Given the description of an element on the screen output the (x, y) to click on. 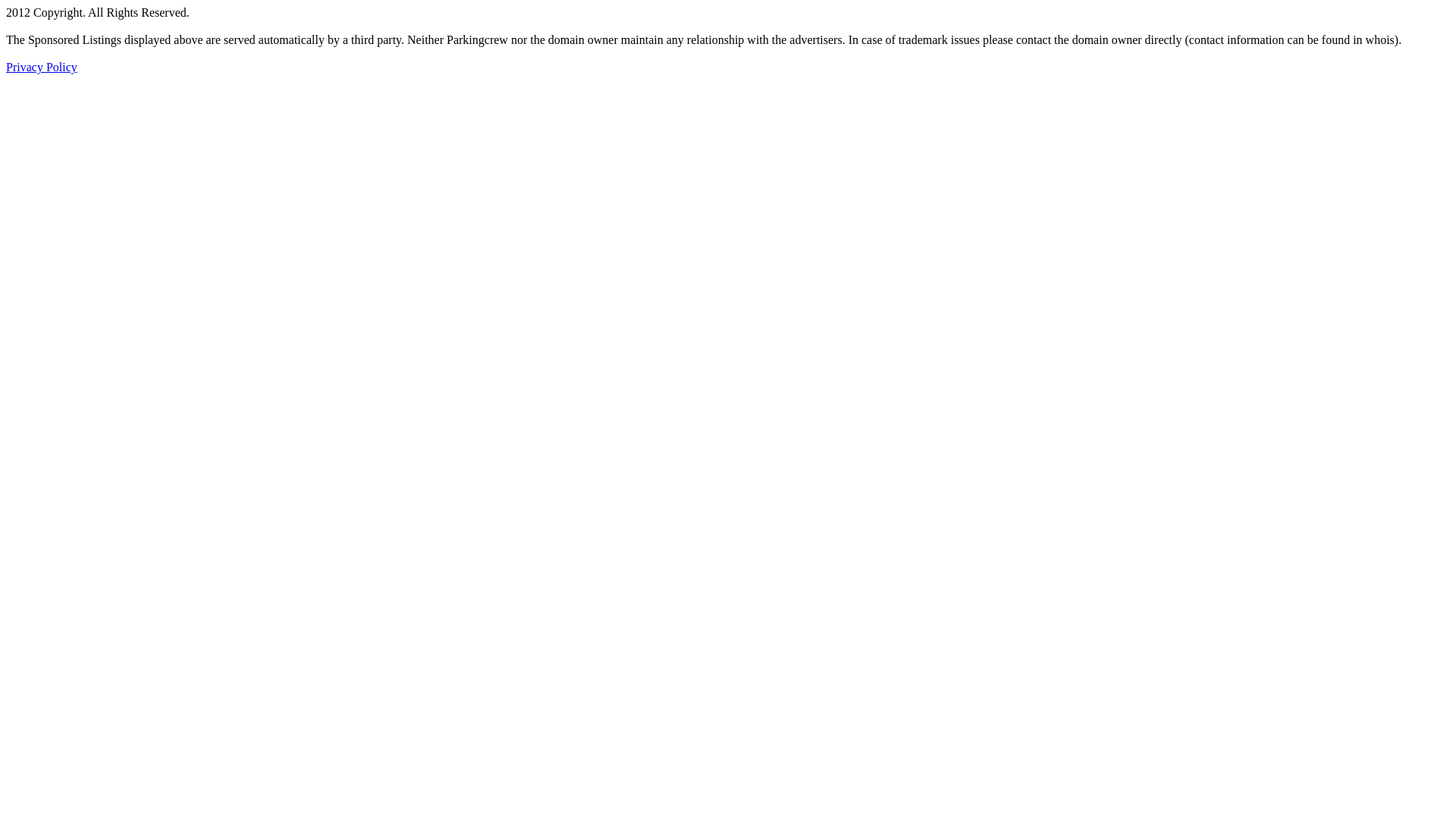
Privacy Policy Element type: text (41, 66)
